Given the description of an element on the screen output the (x, y) to click on. 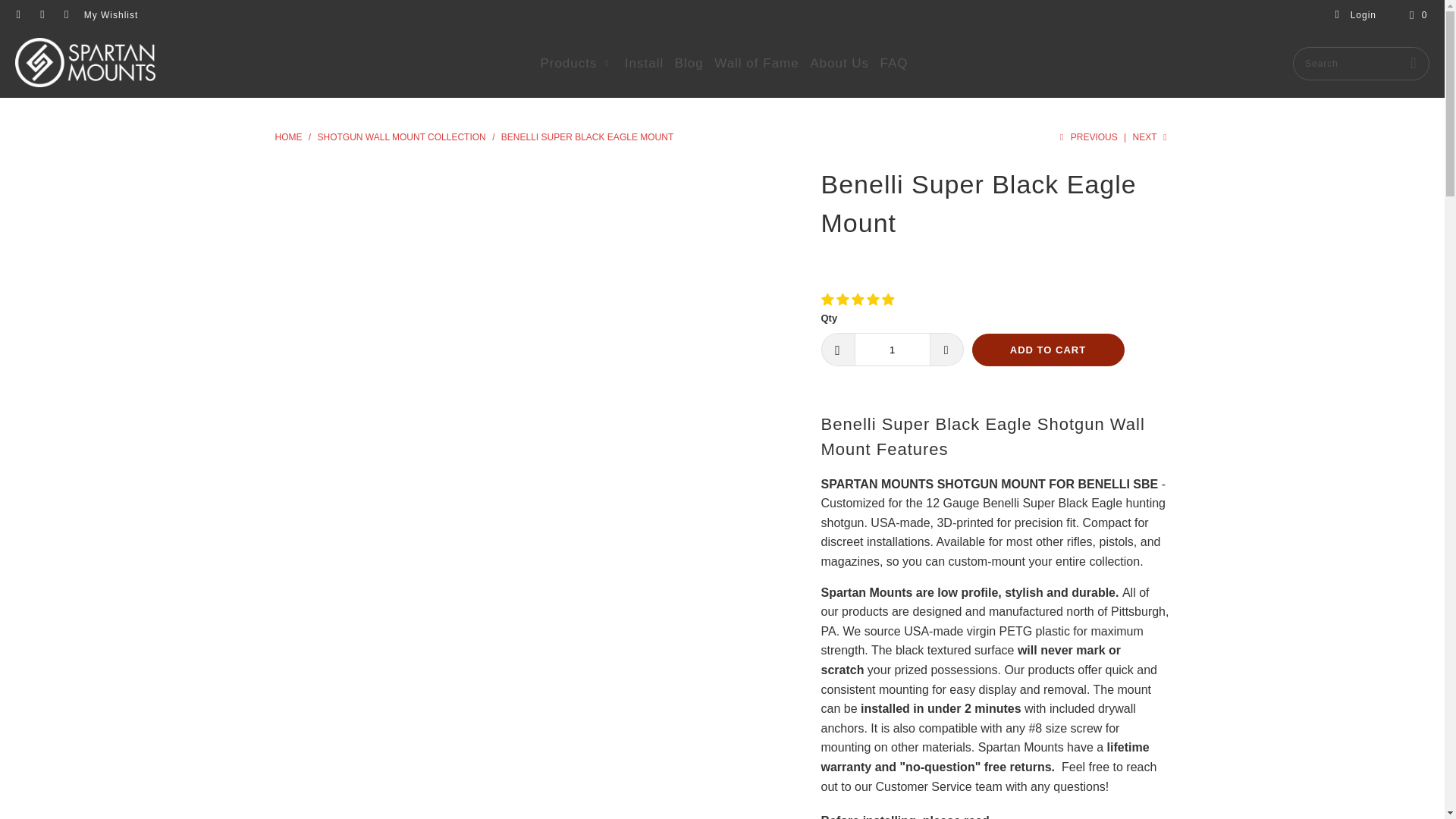
Email Spartan Mounts (65, 14)
Spartan Mounts on Instagram (41, 14)
Previous (1086, 136)
Spartan Mounts (288, 136)
Products (576, 63)
My Wishlist (111, 15)
1 (891, 349)
Login (1355, 15)
Spartan Mounts on Facebook (17, 14)
My Account  (1355, 15)
